Given the description of an element on the screen output the (x, y) to click on. 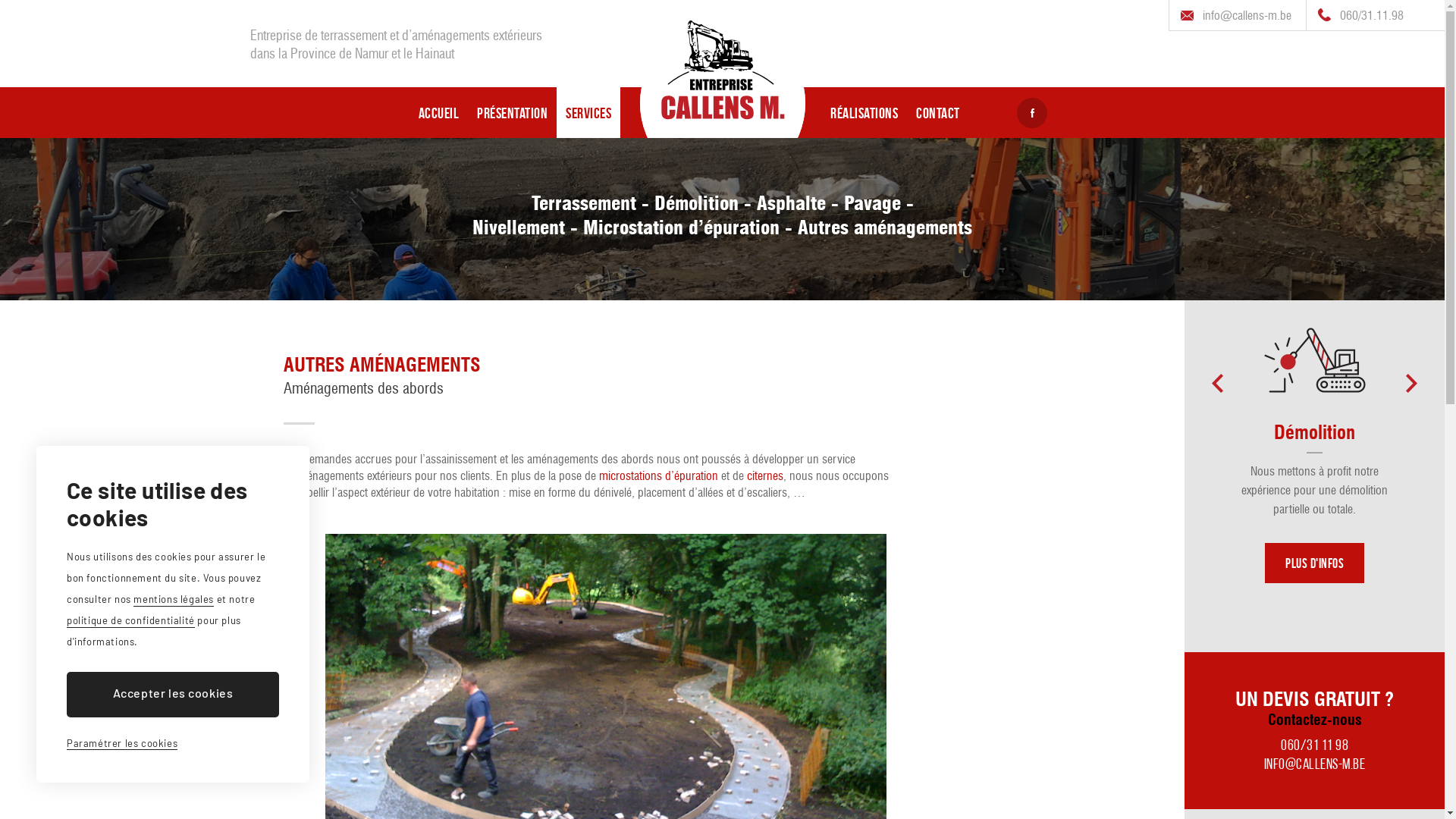
Callens M Element type: hover (721, 74)
060/31.11.98 Element type: text (1361, 15)
facebook Element type: text (1031, 112)
Accueil Element type: text (438, 112)
Contact Element type: text (937, 112)
info@callens-m.be Element type: text (1236, 15)
Previous Element type: text (1217, 382)
060/31 11 98 Element type: text (1314, 746)
INFO@CALLENS-M.BE Element type: text (1314, 765)
PLUS D'INFOS Element type: text (1314, 562)
Terrassement Element type: text (1054, 466)
Callens Element type: hover (722, 102)
Next Element type: text (1411, 382)
citernes Element type: text (764, 476)
Services Element type: text (588, 112)
